Given the description of an element on the screen output the (x, y) to click on. 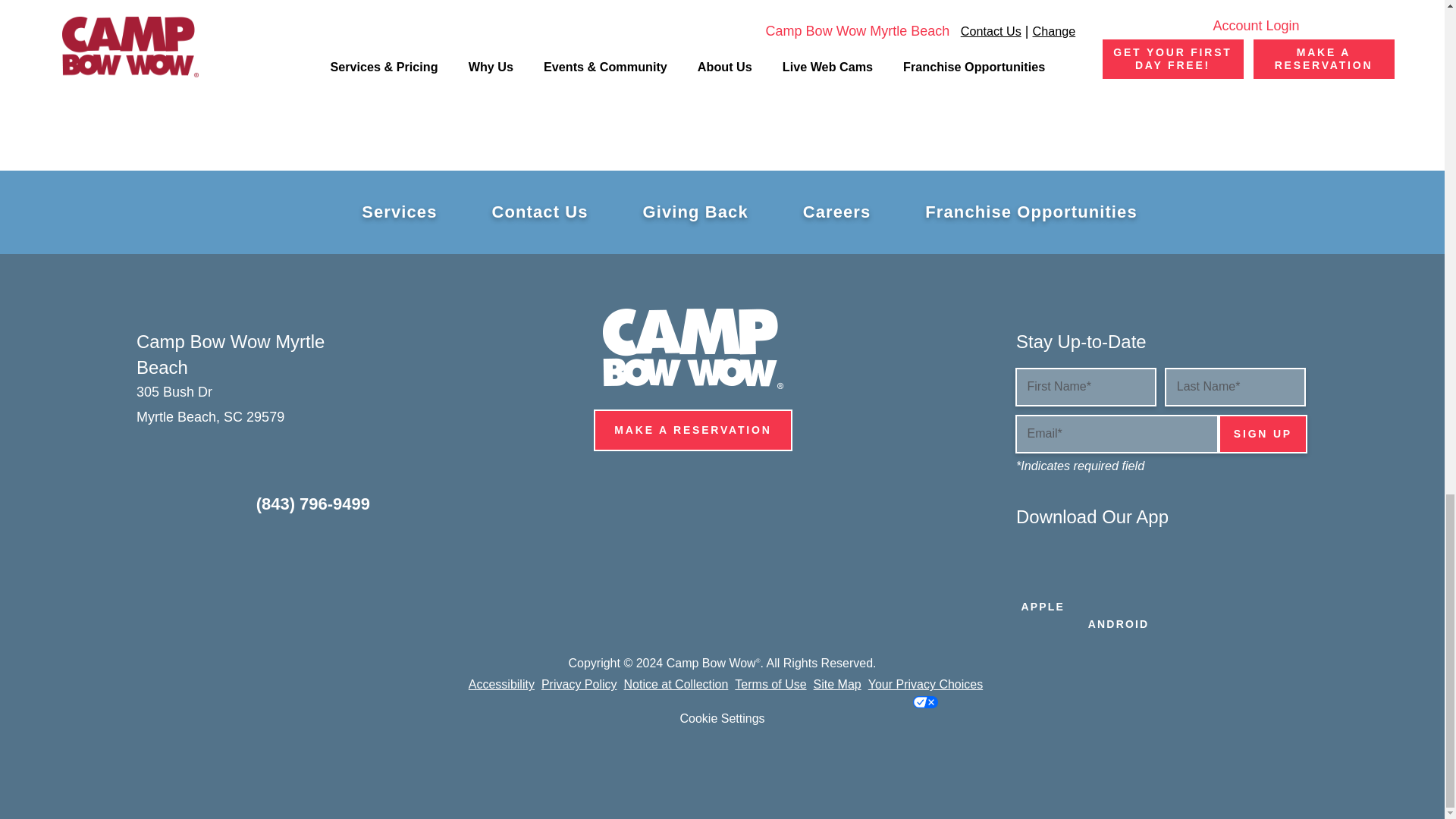
Please enter your last name. (1235, 386)
Please enter your first name. (1085, 386)
Click here to make a reservation. (693, 429)
Please enter your email address. (1116, 433)
Camp Bow Wow (692, 348)
